Given the description of an element on the screen output the (x, y) to click on. 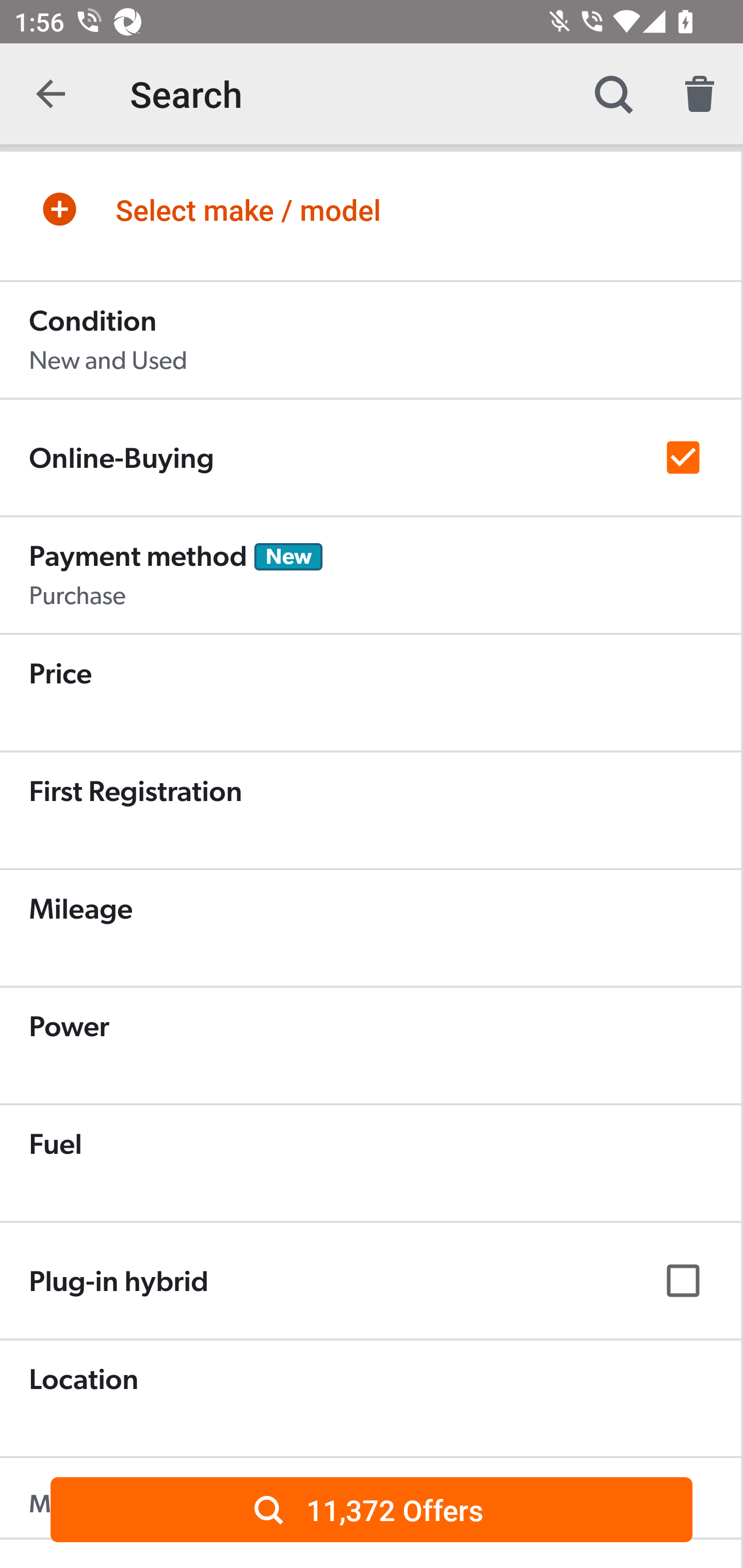
Navigate up (50, 93)
Search (612, 93)
Reset search (699, 93)
Select make / model (370, 209)
Condition New and Used (370, 340)
Online-Buying (370, 457)
Online-Buying (369, 457)
Payment method New Purchase (370, 575)
Price (370, 693)
First Registration (370, 810)
Mileage (370, 928)
Power (370, 1045)
Fuel (370, 1163)
Plug-in hybrid (370, 1281)
Plug-in hybrid (369, 1280)
Location (370, 1398)
11,372 Offers (371, 1509)
